Given the description of an element on the screen output the (x, y) to click on. 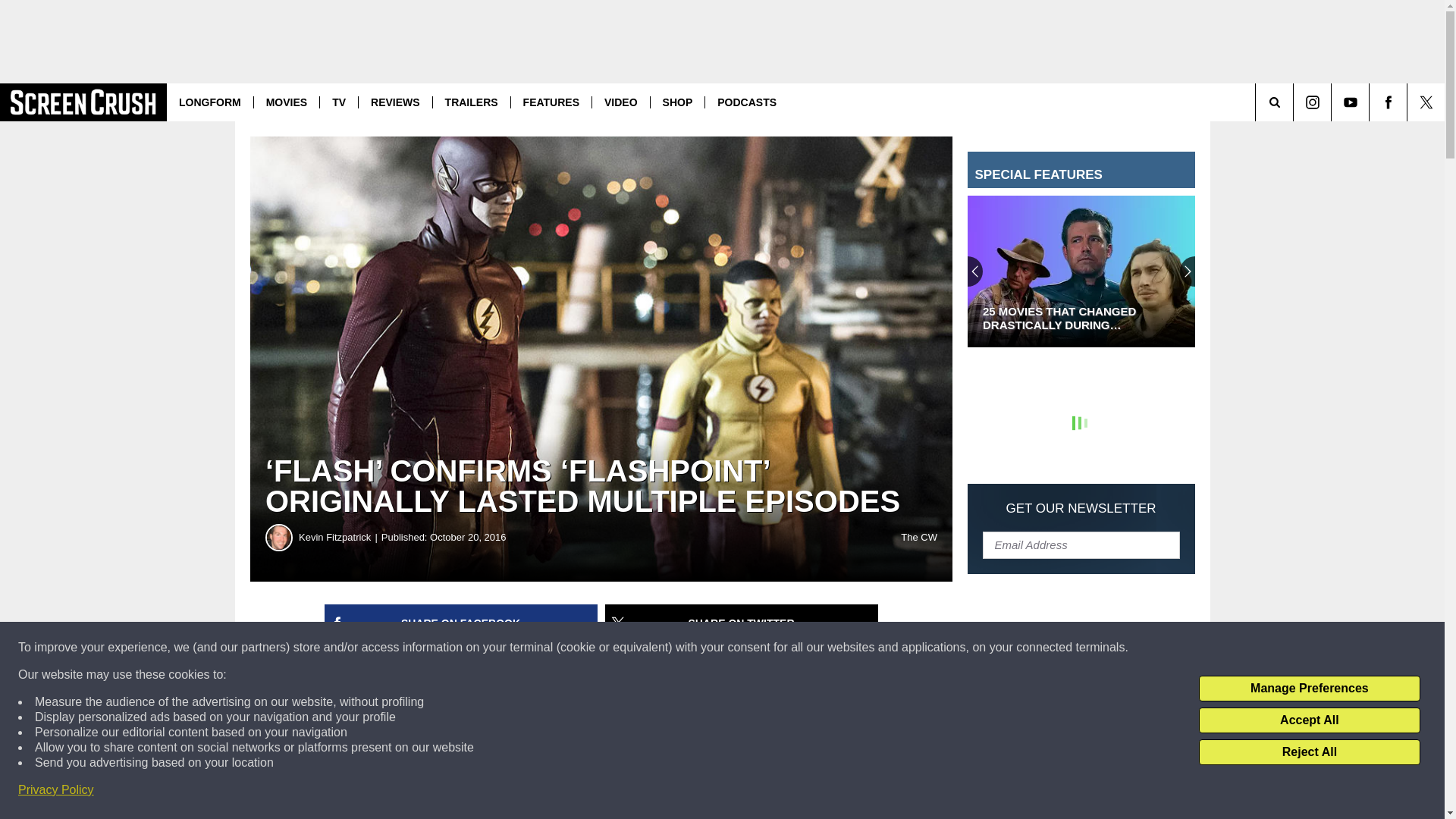
a number of lasting changes (411, 810)
LONGFORM (210, 102)
FEATURES (551, 102)
REVIEWS (395, 102)
PODCASTS (746, 102)
SEARCH (1295, 102)
Share on Facebook (460, 623)
Visit us on Instagram (1312, 102)
Reject All (1309, 751)
SEARCH (1295, 102)
SEARCH (1295, 102)
Manage Preferences (1309, 688)
Visit us on Youtube (1350, 102)
TV (338, 102)
Share on Twitter (741, 623)
